Given the description of an element on the screen output the (x, y) to click on. 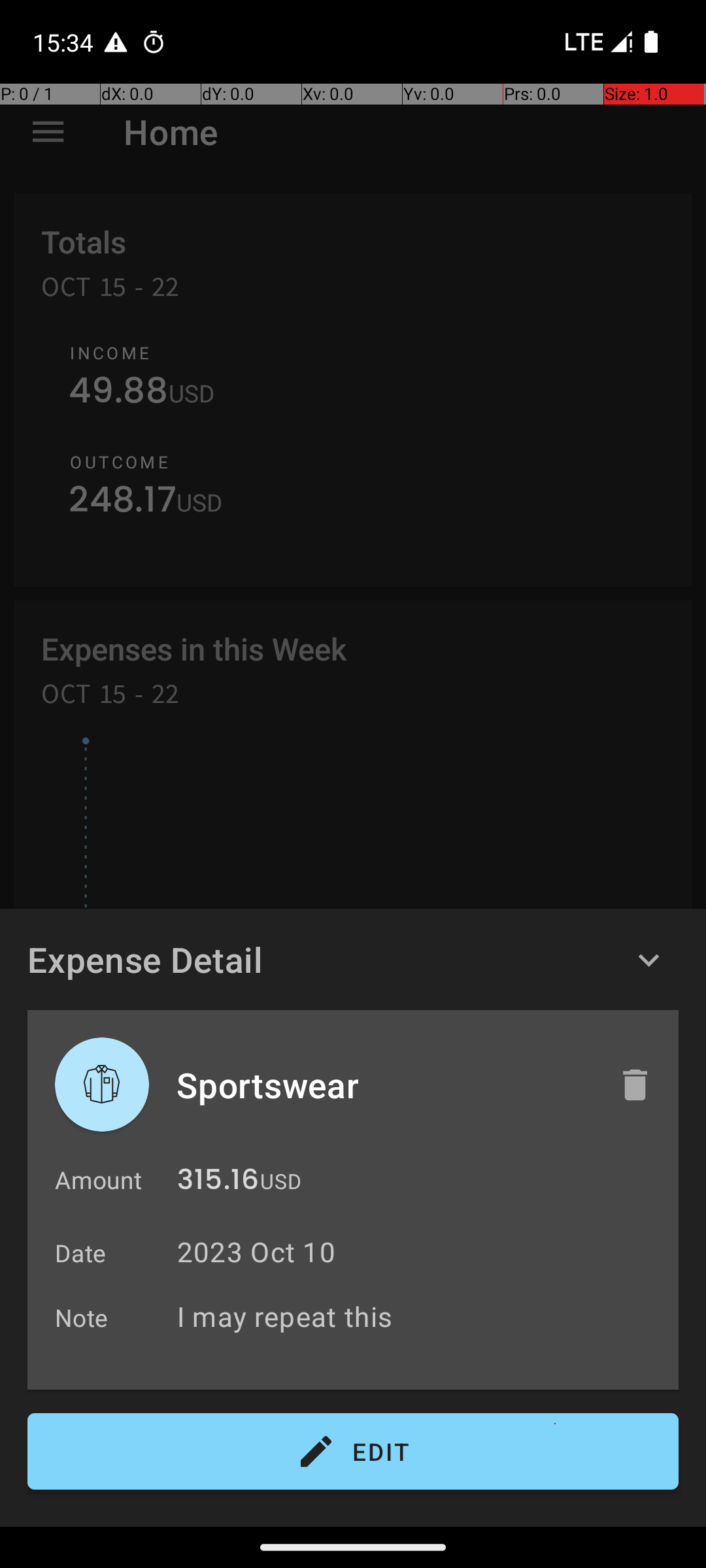
Expense Detail Element type: android.widget.TextView (145, 959)
Sportswear Element type: android.widget.TextView (383, 1084)
Amount Element type: android.widget.TextView (97, 1179)
315.16 Element type: android.widget.TextView (217, 1182)
Date Element type: android.widget.TextView (80, 1252)
2023 Oct 10 Element type: android.widget.TextView (256, 1251)
Note Element type: android.widget.TextView (81, 1317)
I may repeat this Element type: android.widget.TextView (420, 1315)
EDIT Element type: android.widget.Button (352, 1451)
